Given the description of an element on the screen output the (x, y) to click on. 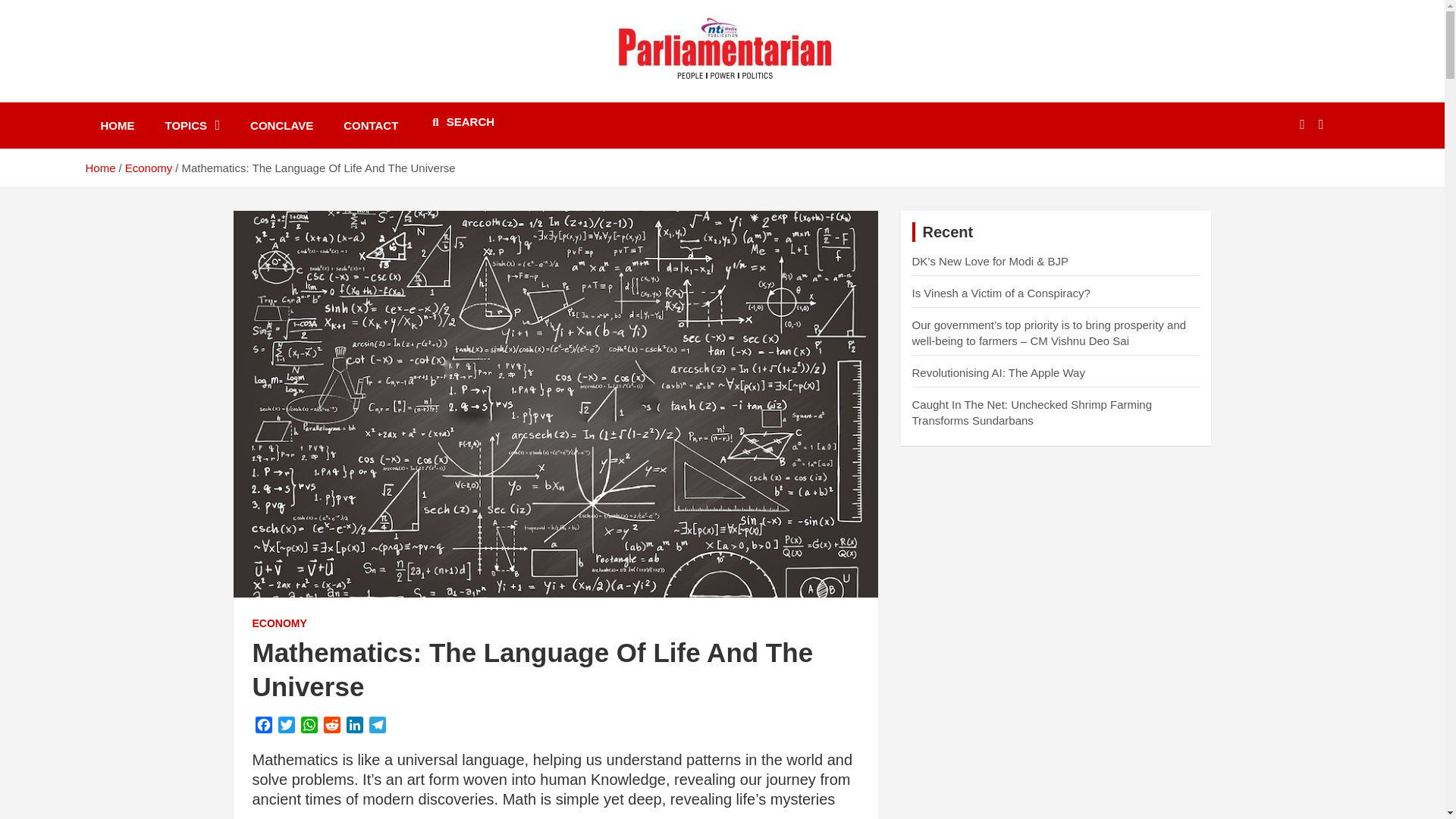
HOME (116, 125)
Reddit (331, 726)
Telegram (376, 726)
ECONOMY (278, 623)
WhatsApp (308, 726)
LinkedIn (353, 726)
Economy (149, 167)
Twitter (286, 726)
Reddit (331, 726)
Telegram (376, 726)
